Given the description of an element on the screen output the (x, y) to click on. 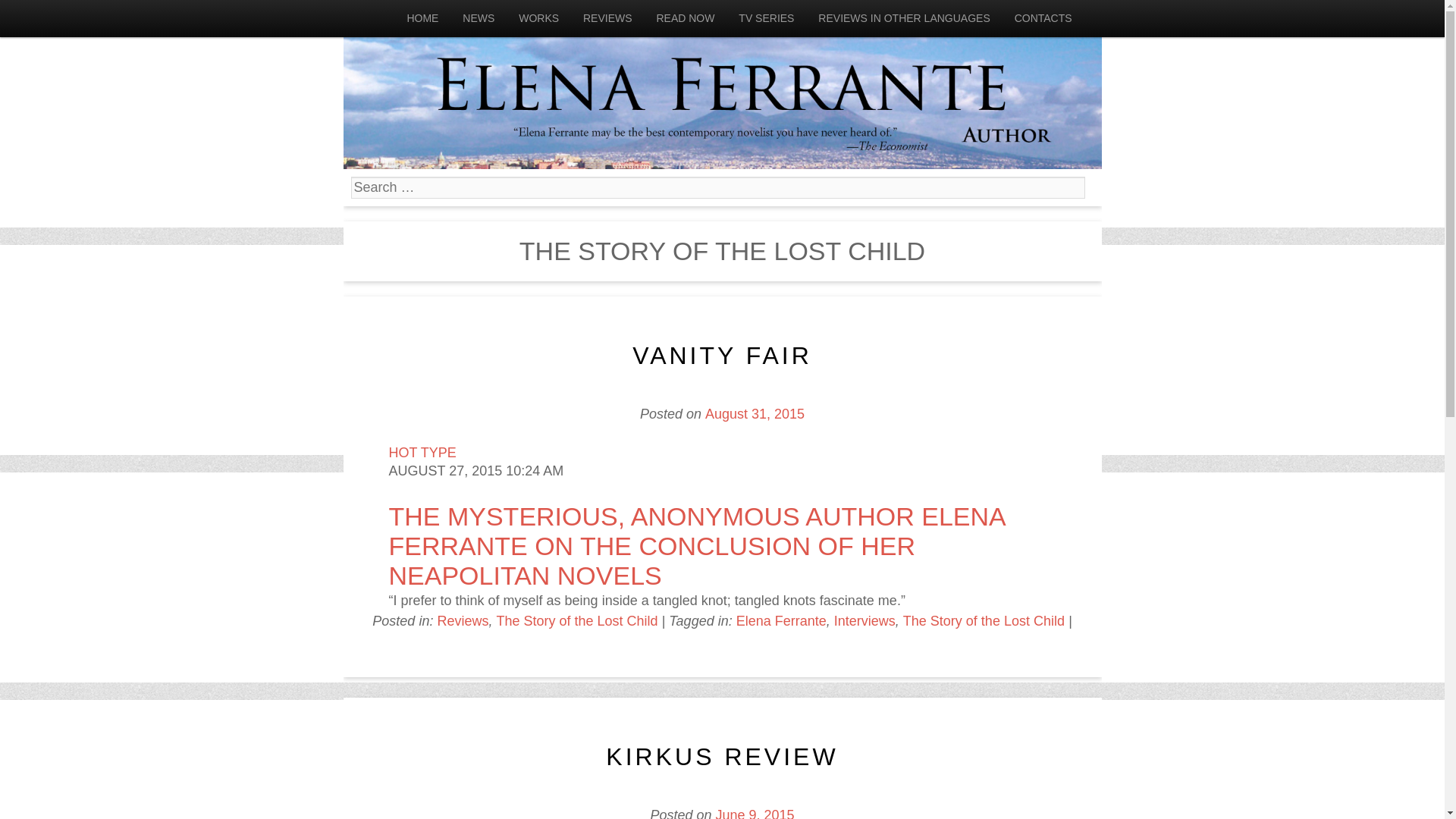
Permalink to Vanity Fair (721, 355)
TV SERIES (766, 18)
SKIP TO CONTENT (58, 18)
REVIEWS IN OTHER LANGUAGES (904, 18)
8:33 am (753, 813)
NEWS (478, 18)
Skip to content (58, 18)
Elena Ferrante (721, 84)
WORKS (538, 18)
The Story of the Lost Child (577, 620)
9:12 am (754, 413)
READ NOW (685, 18)
HOME (422, 18)
Permalink to KIRKUS REVIEW (721, 756)
Reviews (461, 620)
